Given the description of an element on the screen output the (x, y) to click on. 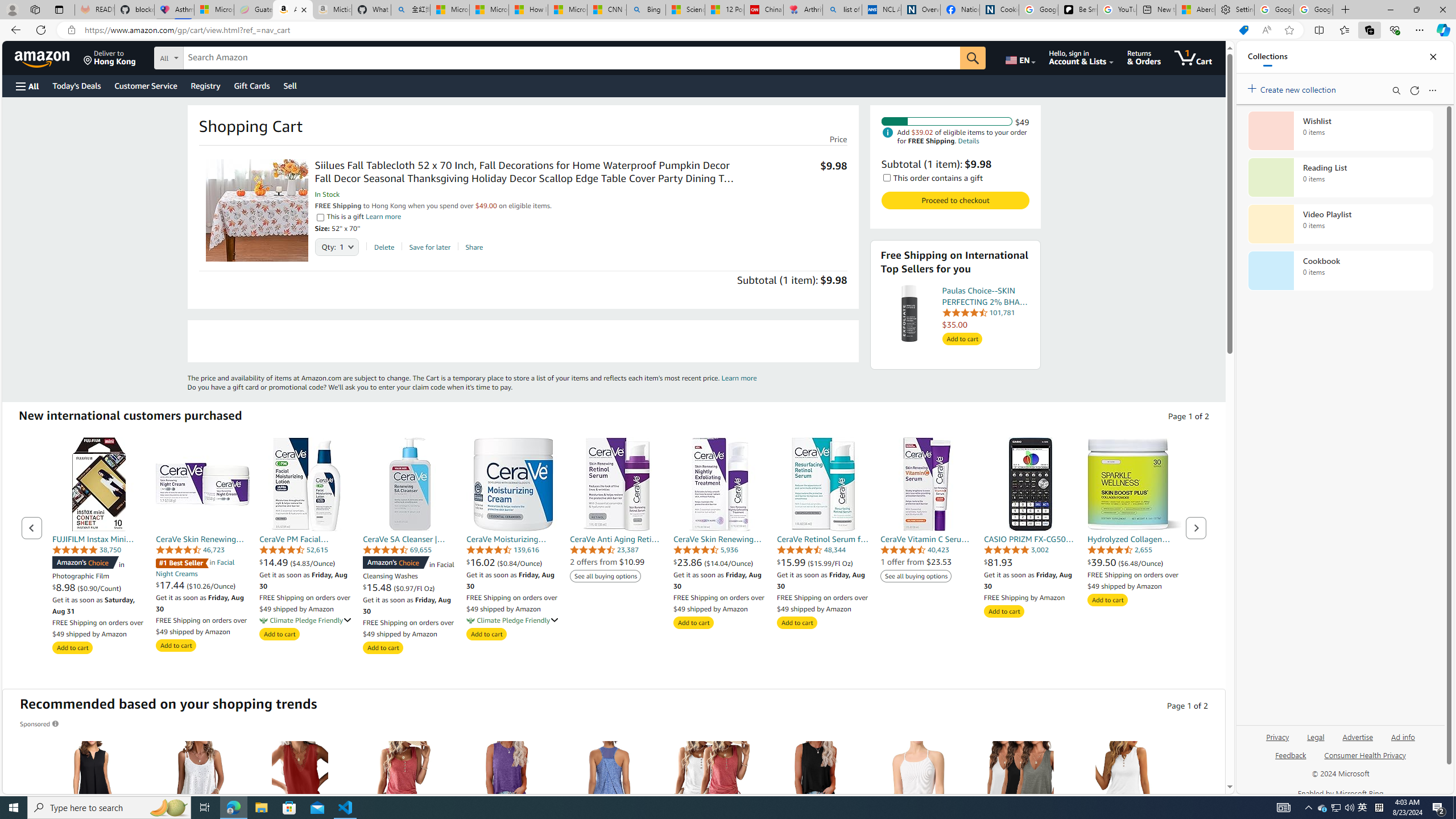
Legal (1315, 736)
Customer Service (145, 85)
($14.04/Ounce) (729, 562)
($4.83/Ounce) (311, 562)
Aberdeen, Hong Kong SAR hourly forecast | Microsoft Weather (1195, 9)
$15.99  (792, 562)
